Given the description of an element on the screen output the (x, y) to click on. 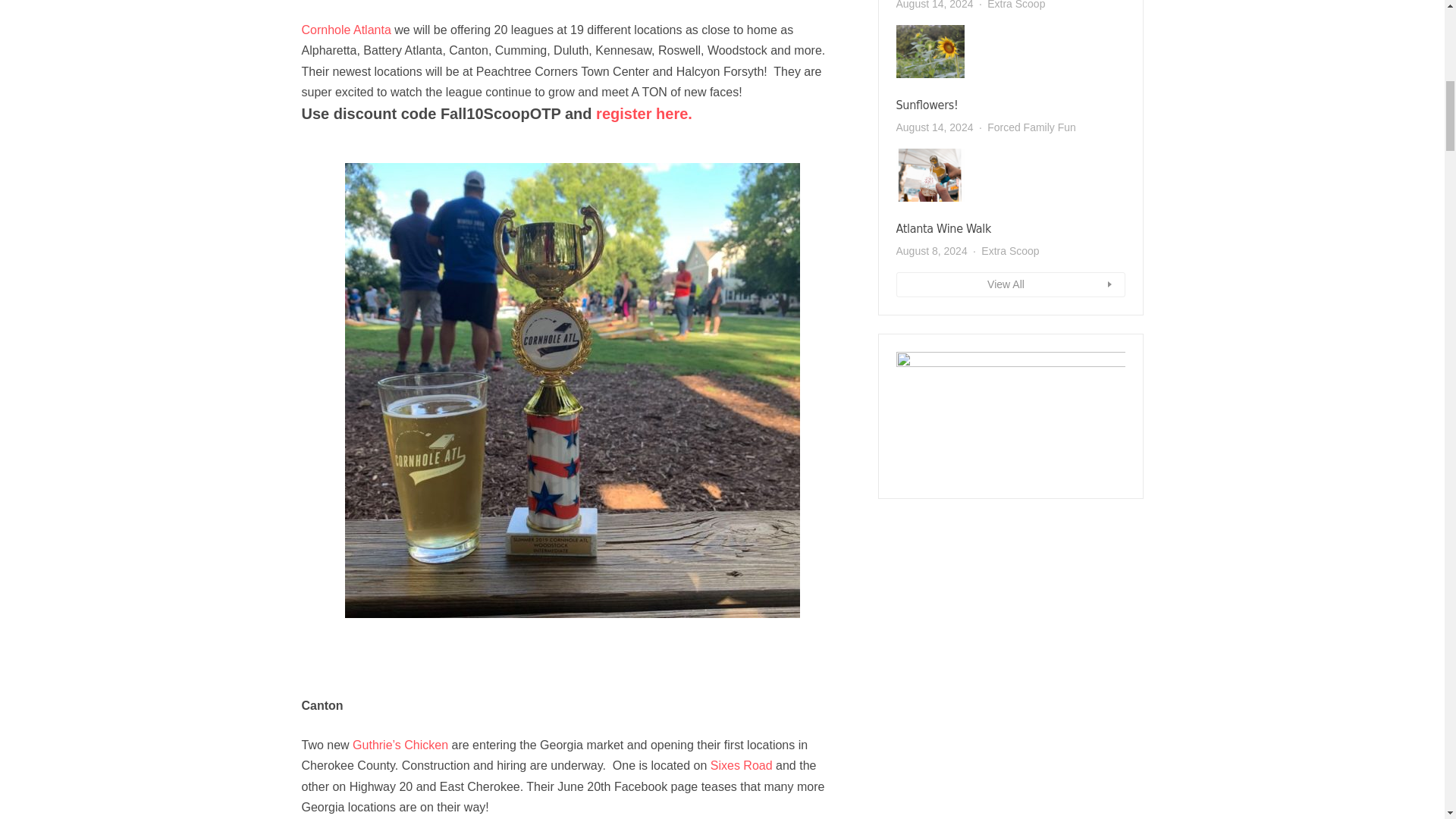
register here. (644, 113)
Cornhole Atlanta (346, 29)
Sixes Road (738, 765)
